Given the description of an element on the screen output the (x, y) to click on. 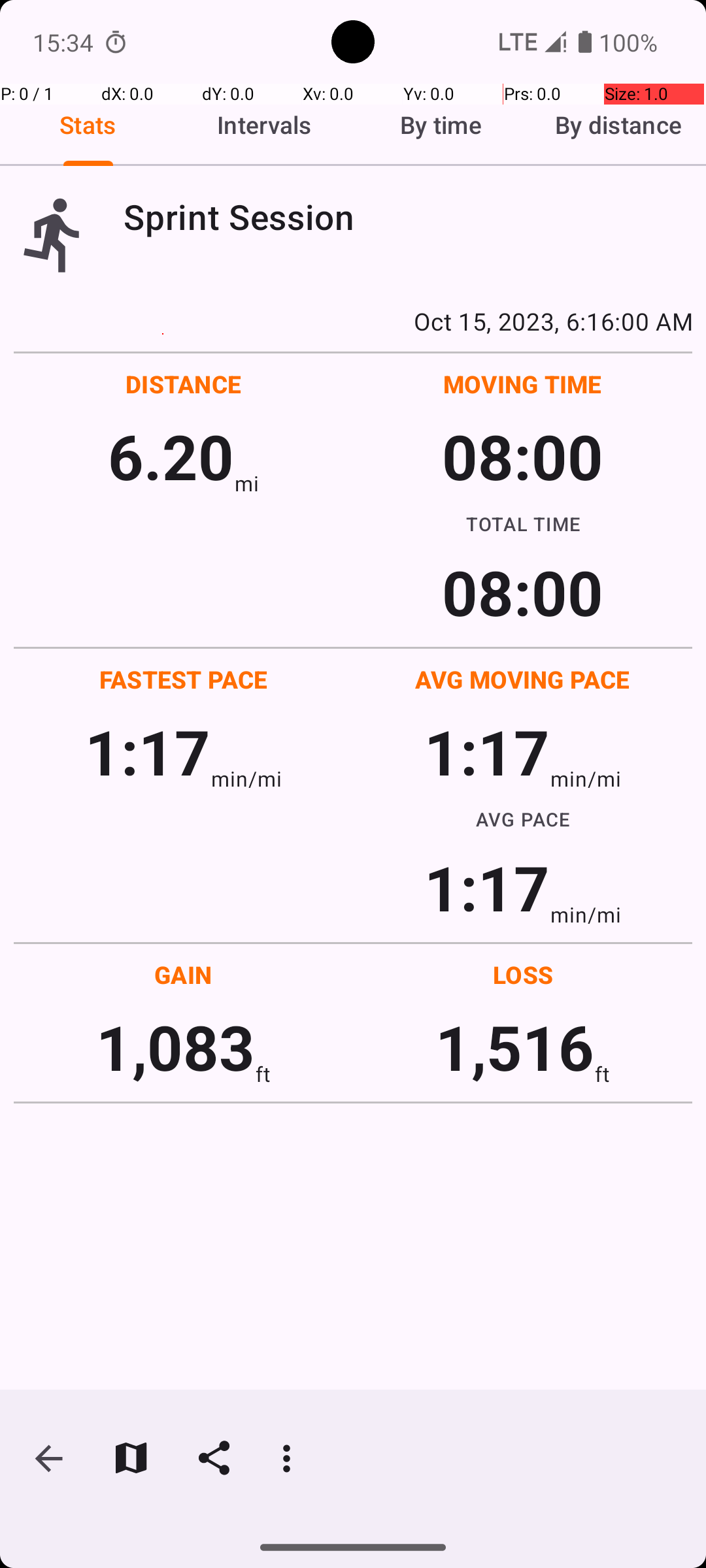
Sprint Session Element type: android.widget.TextView (407, 216)
Oct 15, 2023, 6:16:00 AM Element type: android.widget.TextView (352, 320)
6.20 Element type: android.widget.TextView (170, 455)
1:17 Element type: android.widget.TextView (147, 750)
1,083 Element type: android.widget.TextView (175, 1045)
1,516 Element type: android.widget.TextView (514, 1045)
